Given the description of an element on the screen output the (x, y) to click on. 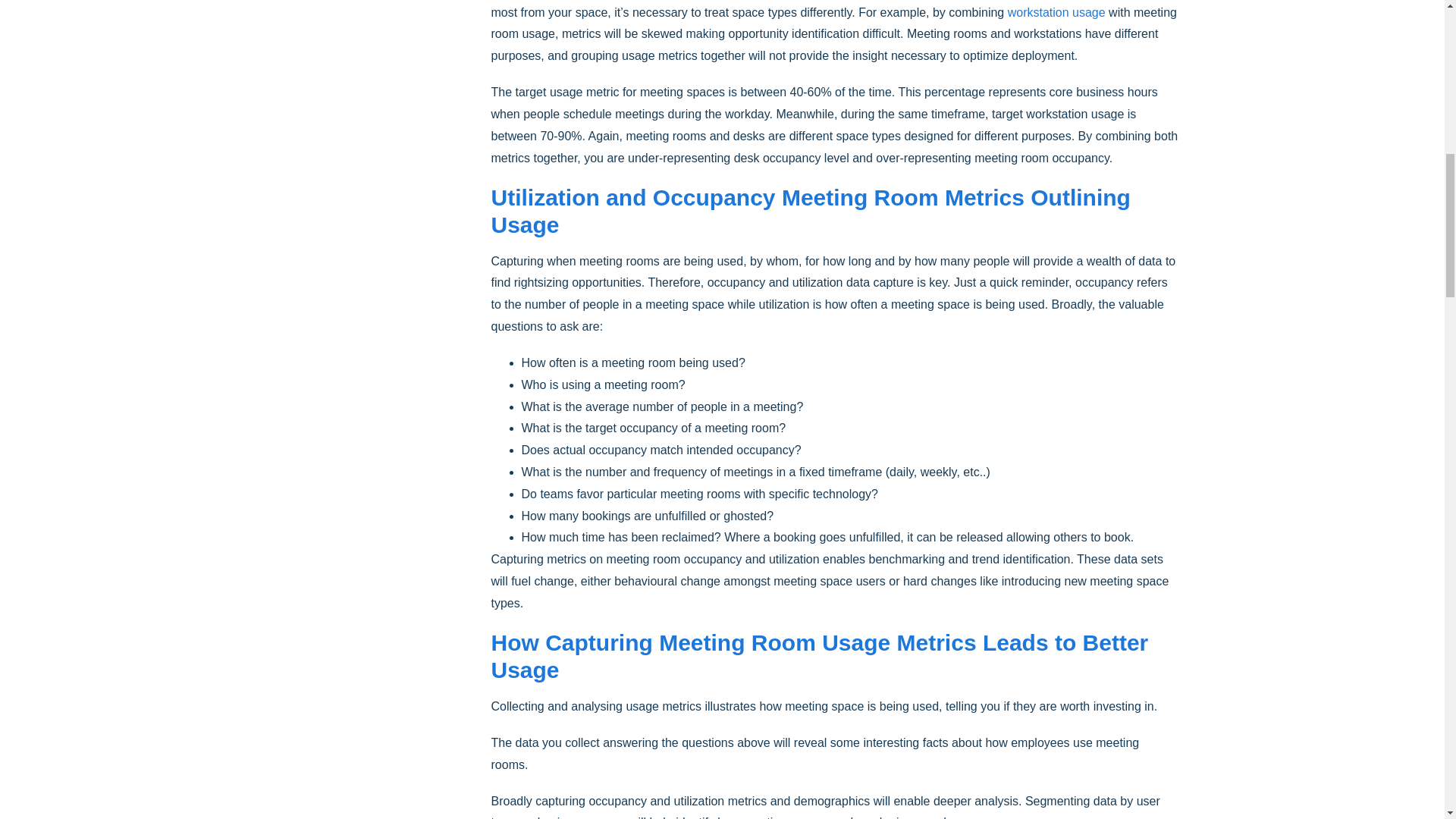
workstation usage (1056, 11)
